Given the description of an element on the screen output the (x, y) to click on. 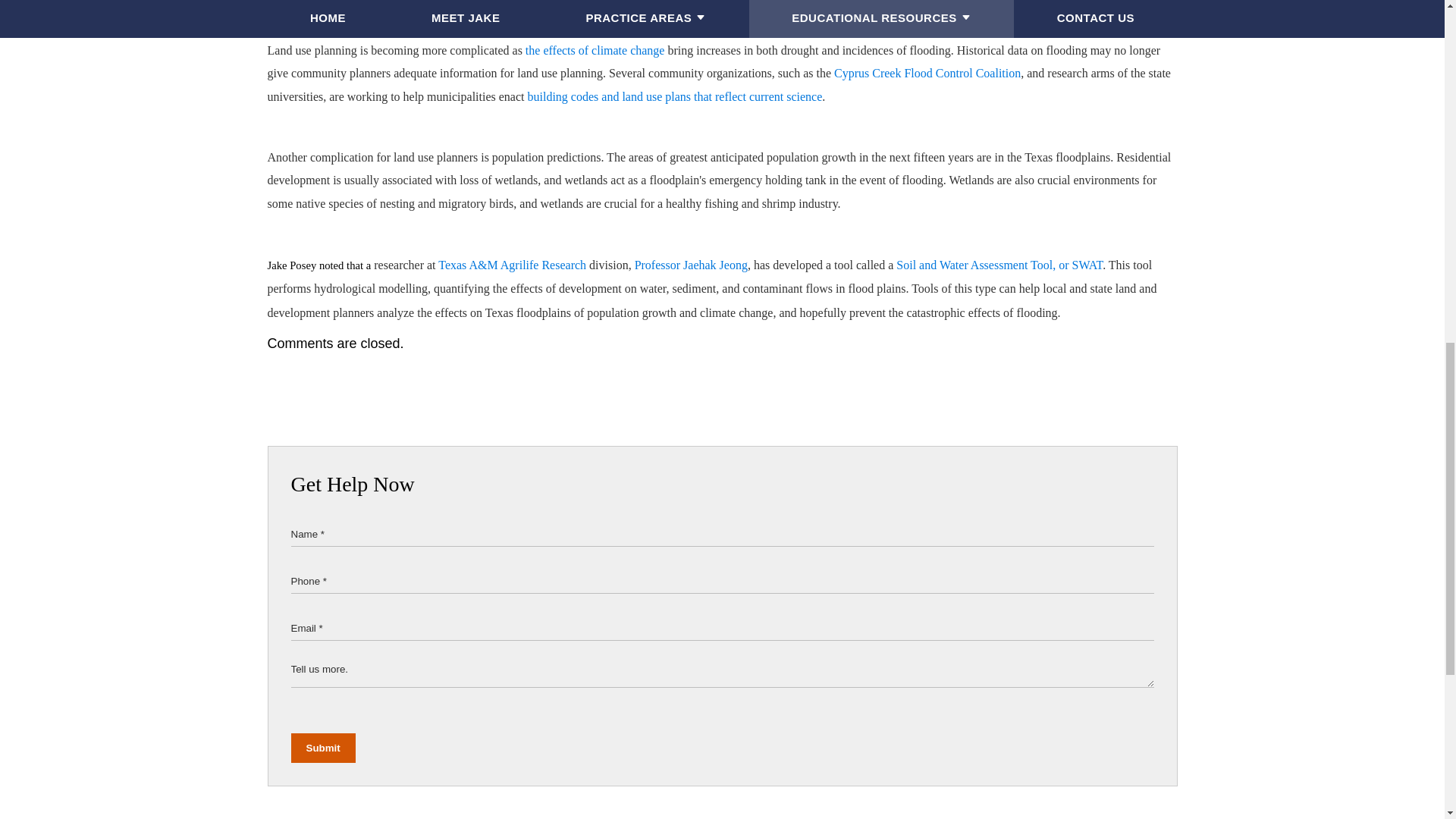
Professor Jaehak Jeong (691, 264)
the effects of climate change (595, 50)
Cyprus Creek Flood Control Coalition (927, 72)
